Given the description of an element on the screen output the (x, y) to click on. 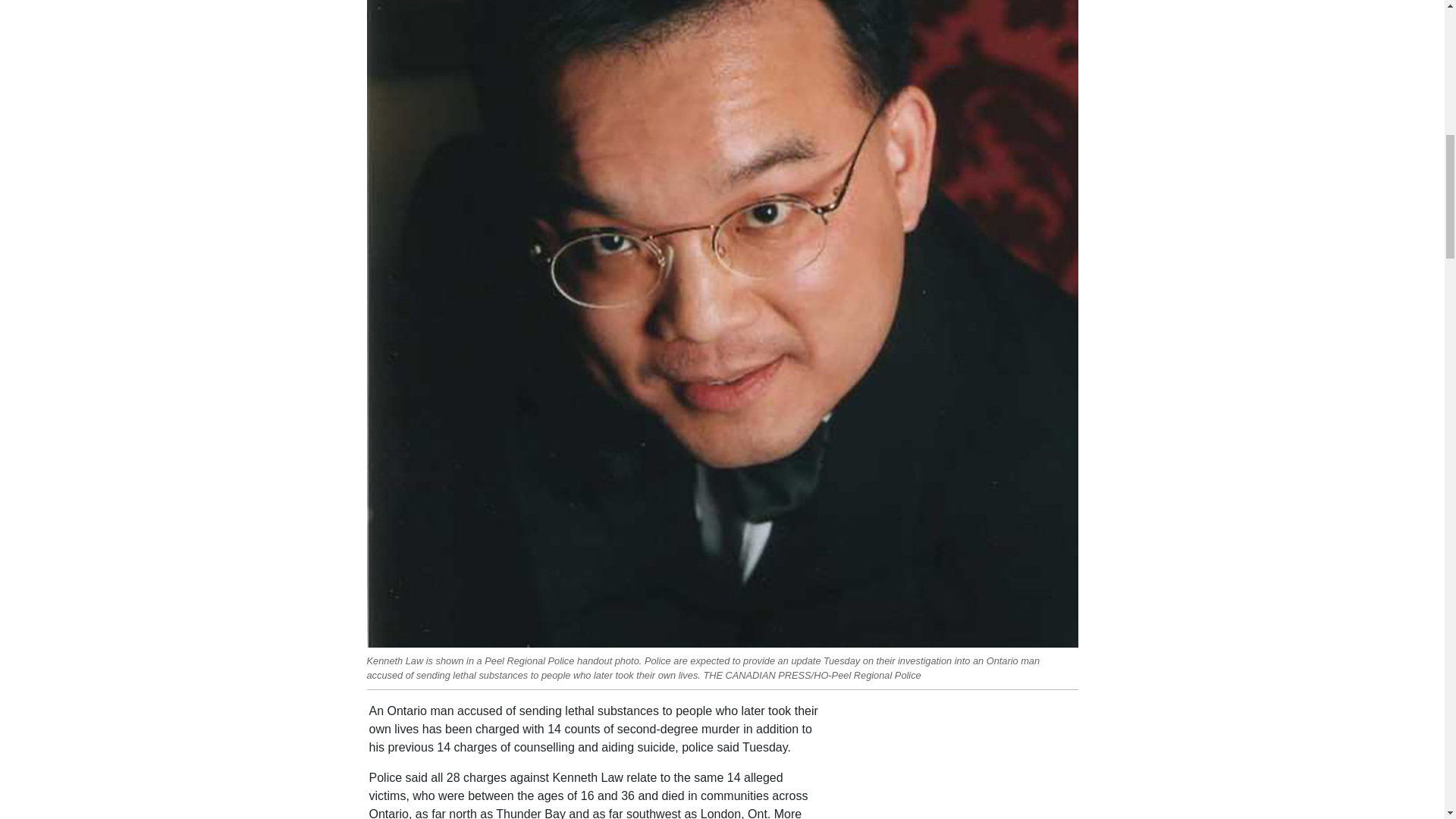
3rd party ad content (961, 760)
